Given the description of an element on the screen output the (x, y) to click on. 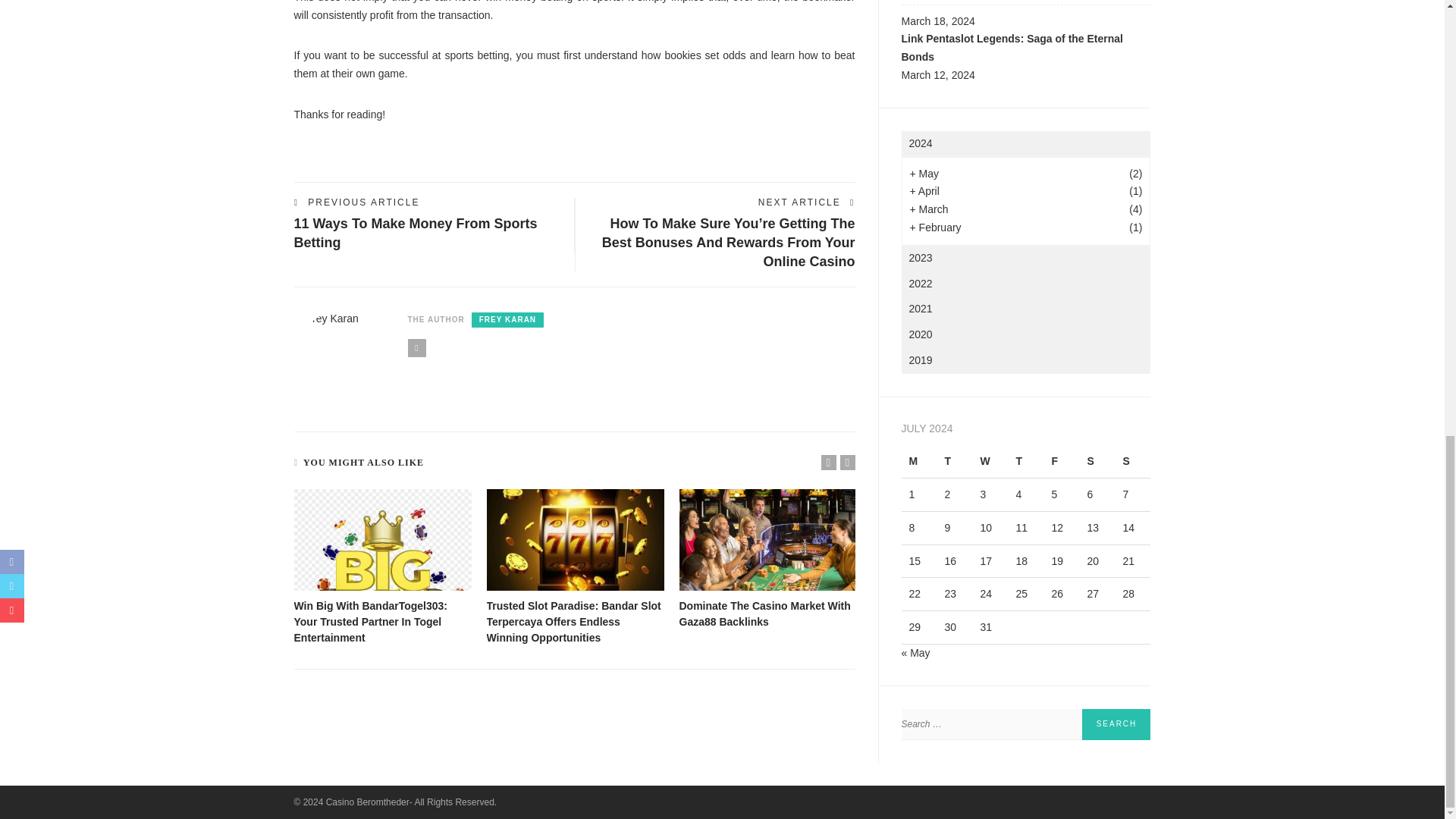
11 Ways to Make Money from Sports Betting (415, 233)
FREY KARAN (507, 319)
Search (1115, 724)
11 Ways To Make Money From Sports Betting (415, 233)
Search (1115, 724)
